Given the description of an element on the screen output the (x, y) to click on. 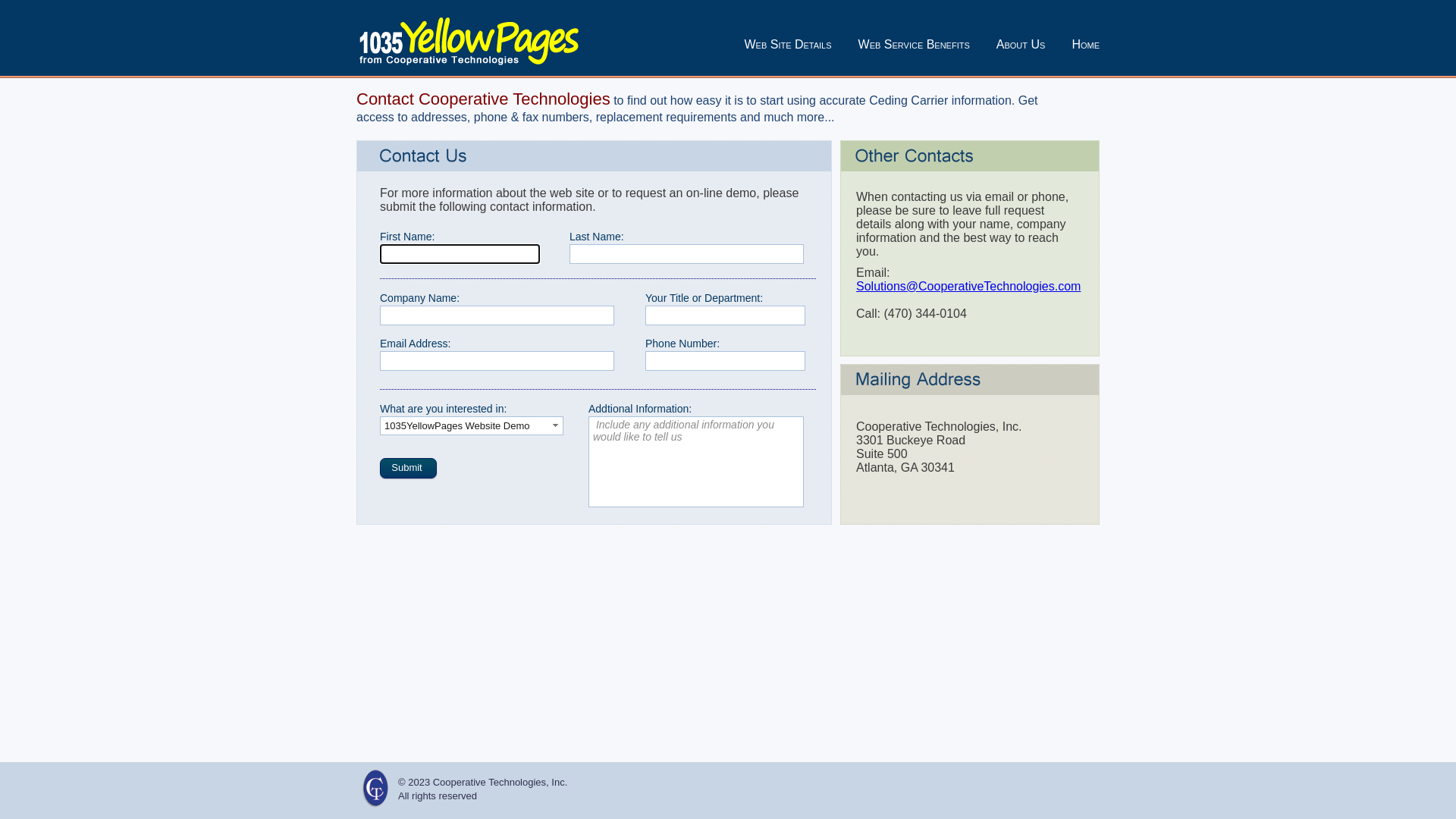
Submit Element type: text (408, 468)
About Us Element type: text (1020, 43)
Web Site Details Element type: text (787, 43)
Web Service Benefits Element type: text (913, 43)
select Element type: text (555, 425)
Home Element type: text (1085, 43)
Solutions@CooperativeTechnologies.com Element type: text (968, 285)
